Given the description of an element on the screen output the (x, y) to click on. 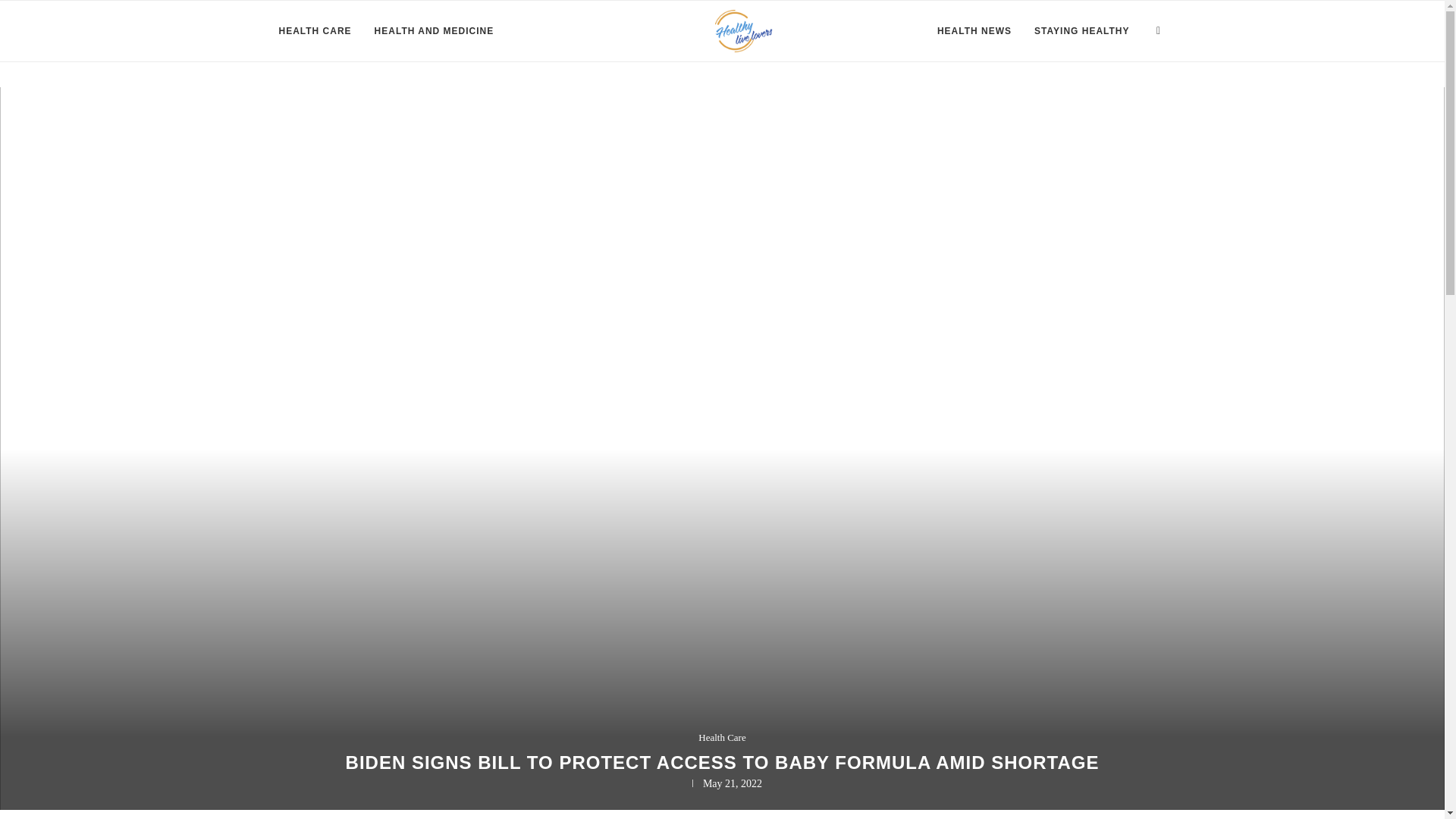
HEALTH NEWS (974, 30)
Health Care (721, 737)
HEALTH AND MEDICINE (434, 30)
HEALTH CARE (315, 30)
STAYING HEALTHY (1081, 30)
